Given the description of an element on the screen output the (x, y) to click on. 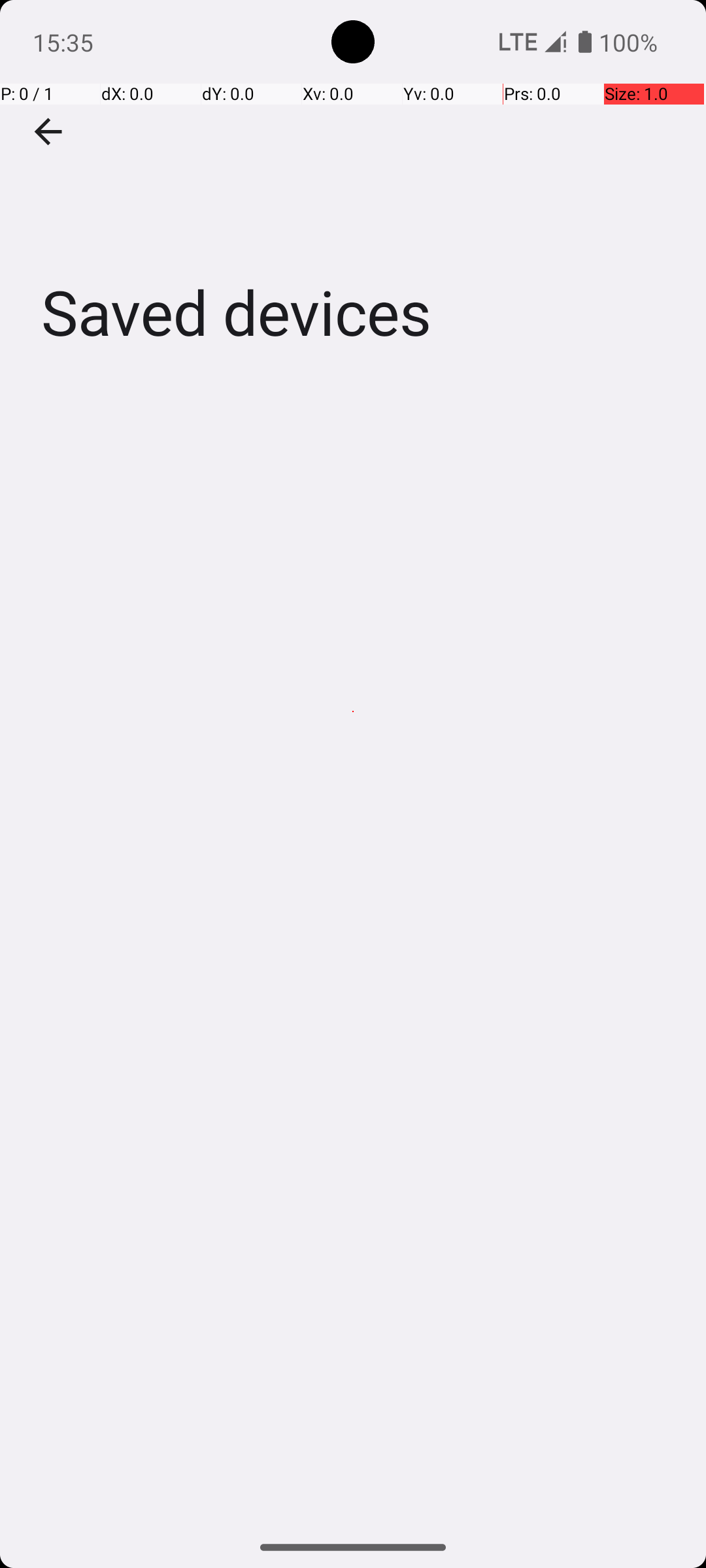
Saved devices Element type: android.widget.FrameLayout (353, 195)
